Given the description of an element on the screen output the (x, y) to click on. 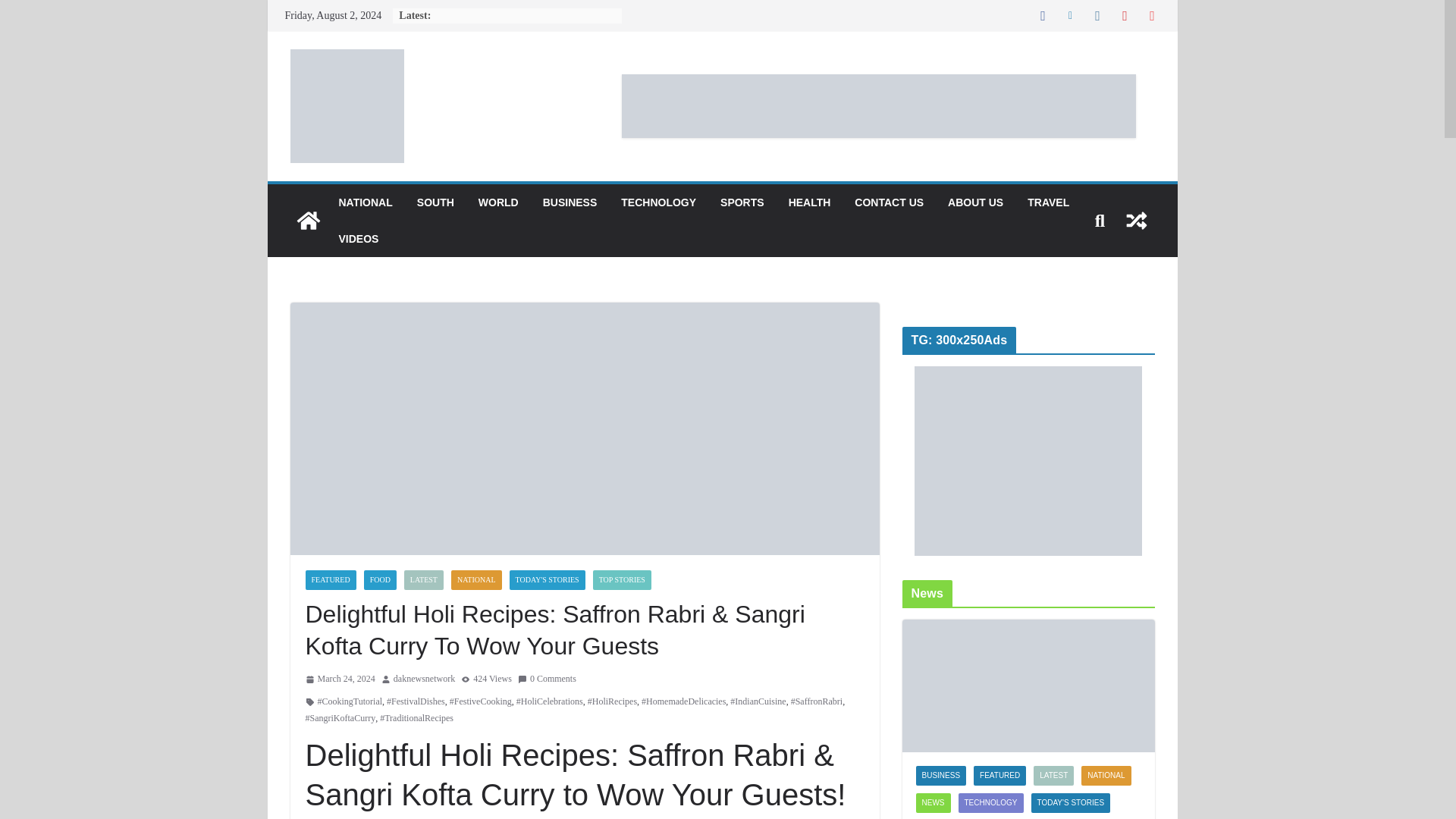
TRAVEL (1047, 201)
daknewsnetwork (423, 678)
March 24, 2024 (339, 678)
daknewsnetwork (423, 678)
BUSINESS (569, 201)
NATIONAL (476, 579)
VIDEOS (357, 238)
SPORTS (742, 201)
0 Comments (547, 678)
FOOD (380, 579)
TODAY'S STORIES (547, 579)
LATEST (424, 579)
TOP STORIES (621, 579)
FEATURED (329, 579)
6:11 pm (339, 678)
